Given the description of an element on the screen output the (x, y) to click on. 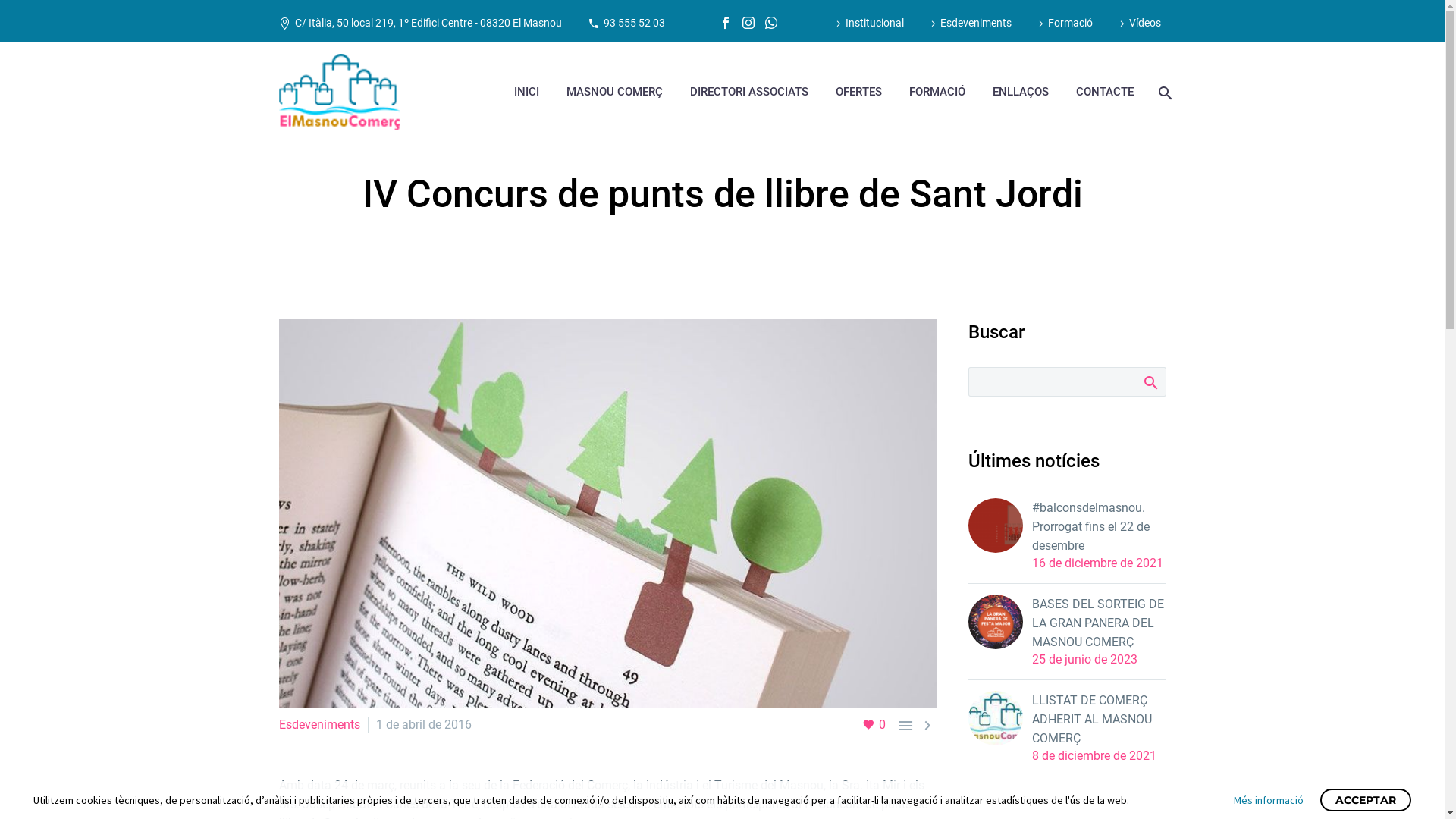
CONTACTE Element type: text (1104, 90)
ACCEPTAR Element type: text (1365, 799)
Instagram Element type: hover (748, 22)
0 Element type: text (872, 724)
#balconsdelmasnou. Prorrogat fins el 22 de desembre Element type: text (1098, 526)
BUSCAR Element type: text (1148, 381)
Esdeveniments Element type: text (968, 22)
DIRECTORI ASSOCIATS Element type: text (748, 90)
Esdeveniments Element type: text (319, 724)
93 555 52 03 Element type: text (634, 22)
INICI Element type: text (525, 90)
OFERTES Element type: text (857, 90)
Institucional Element type: text (867, 22)
WhatsApp Element type: hover (770, 22)
Facebook Element type: hover (725, 22)
